Given the description of an element on the screen output the (x, y) to click on. 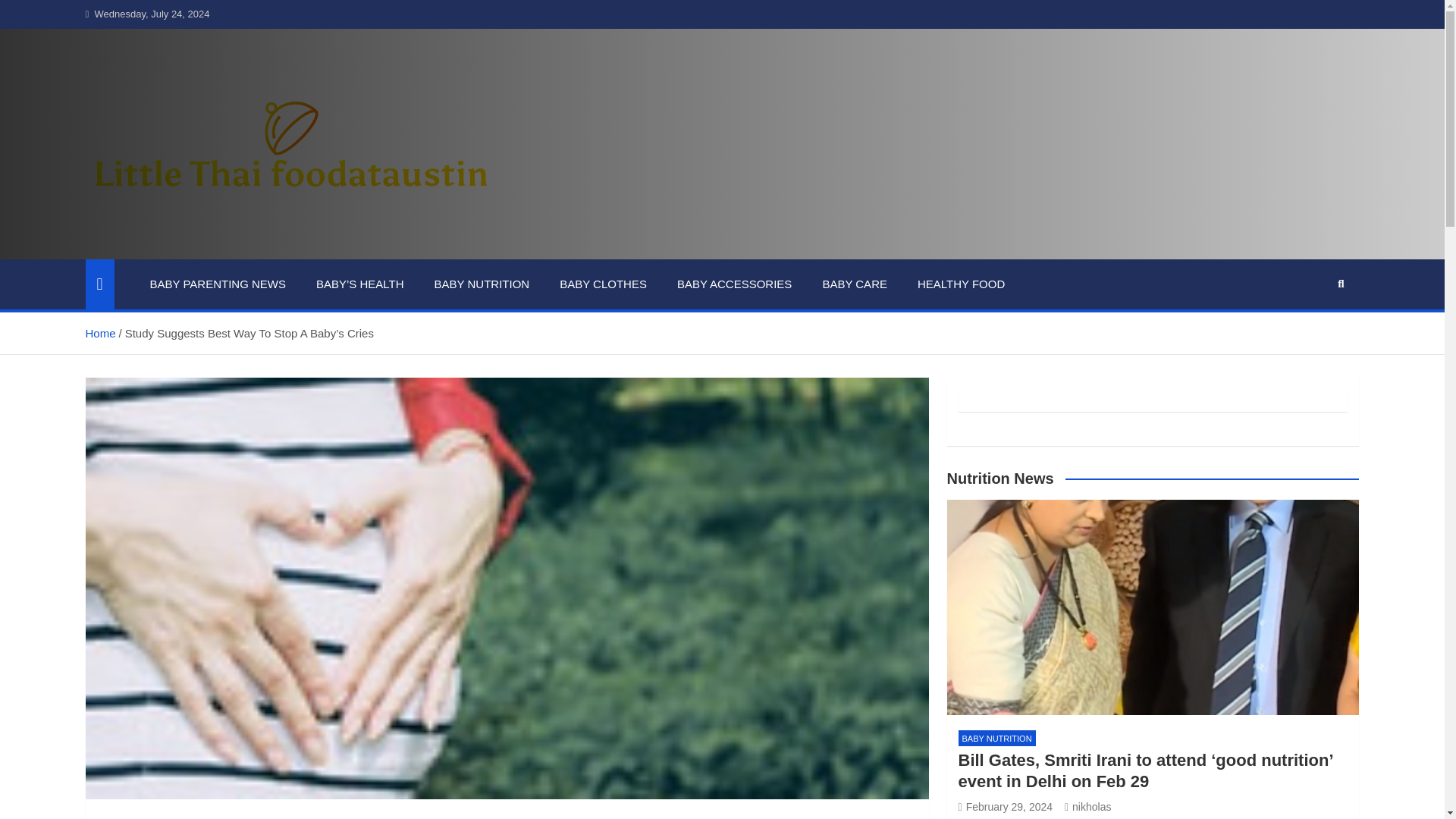
BABY CARE (854, 284)
littlethaifoodataustin (233, 248)
HEALTHY FOOD (961, 284)
Home (99, 332)
BABY NUTRITION (481, 284)
BABY ACCESSORIES (734, 284)
BABY CLOTHES (603, 284)
BABY PARENTING NEWS (218, 284)
